Given the description of an element on the screen output the (x, y) to click on. 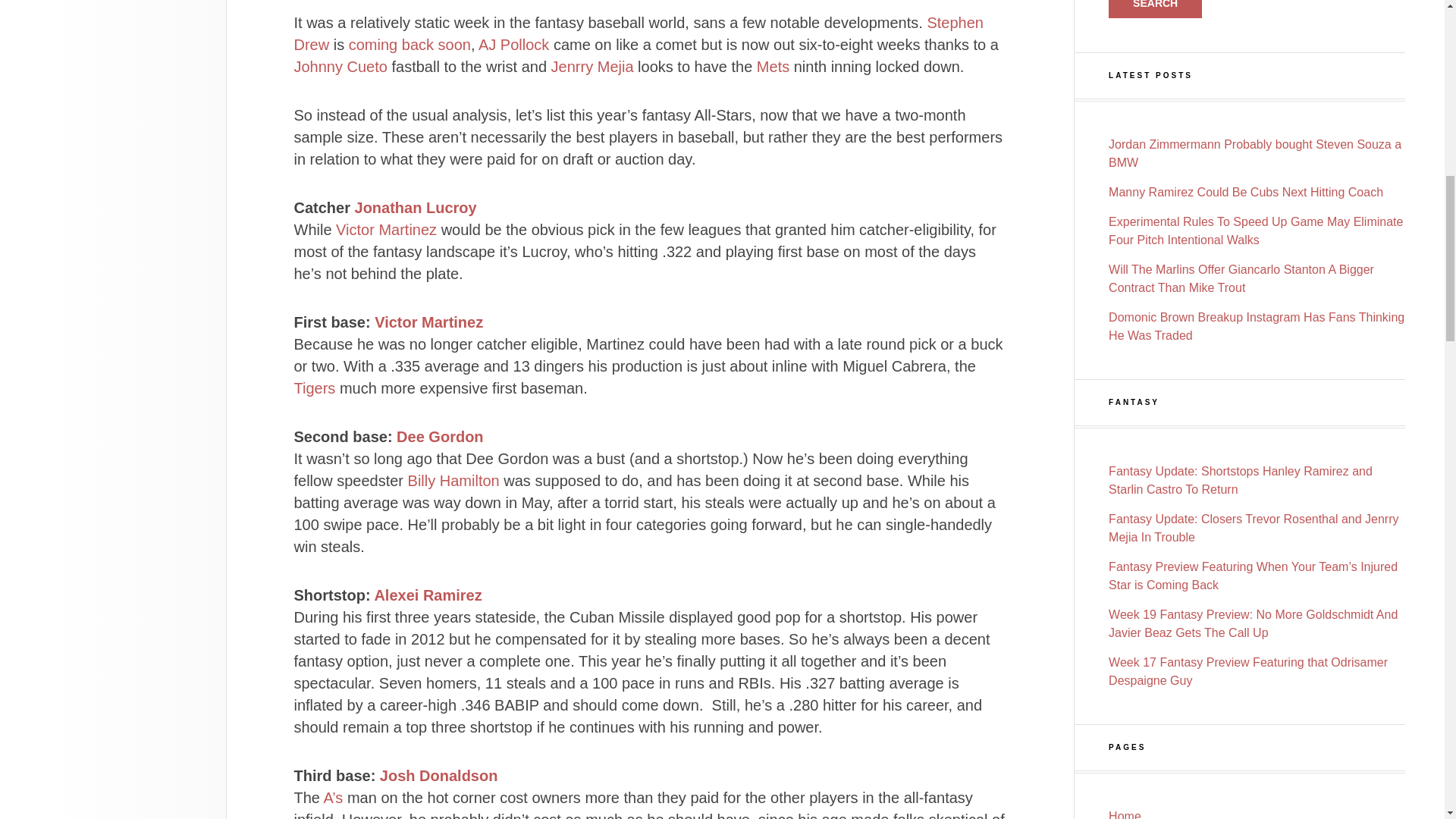
Victor Martinez (386, 229)
Jenrry Mejia (592, 66)
Tigers (315, 388)
Billy Hamilton (453, 480)
Stephen Drew (639, 33)
Search (1155, 9)
Jonathan Lucroy (416, 207)
Victor Martinez (428, 321)
Mets (775, 66)
Dee Gordon (439, 436)
AJ Pollock (513, 44)
Johnny Cueto (340, 66)
coming back soon (409, 44)
